Given the description of an element on the screen output the (x, y) to click on. 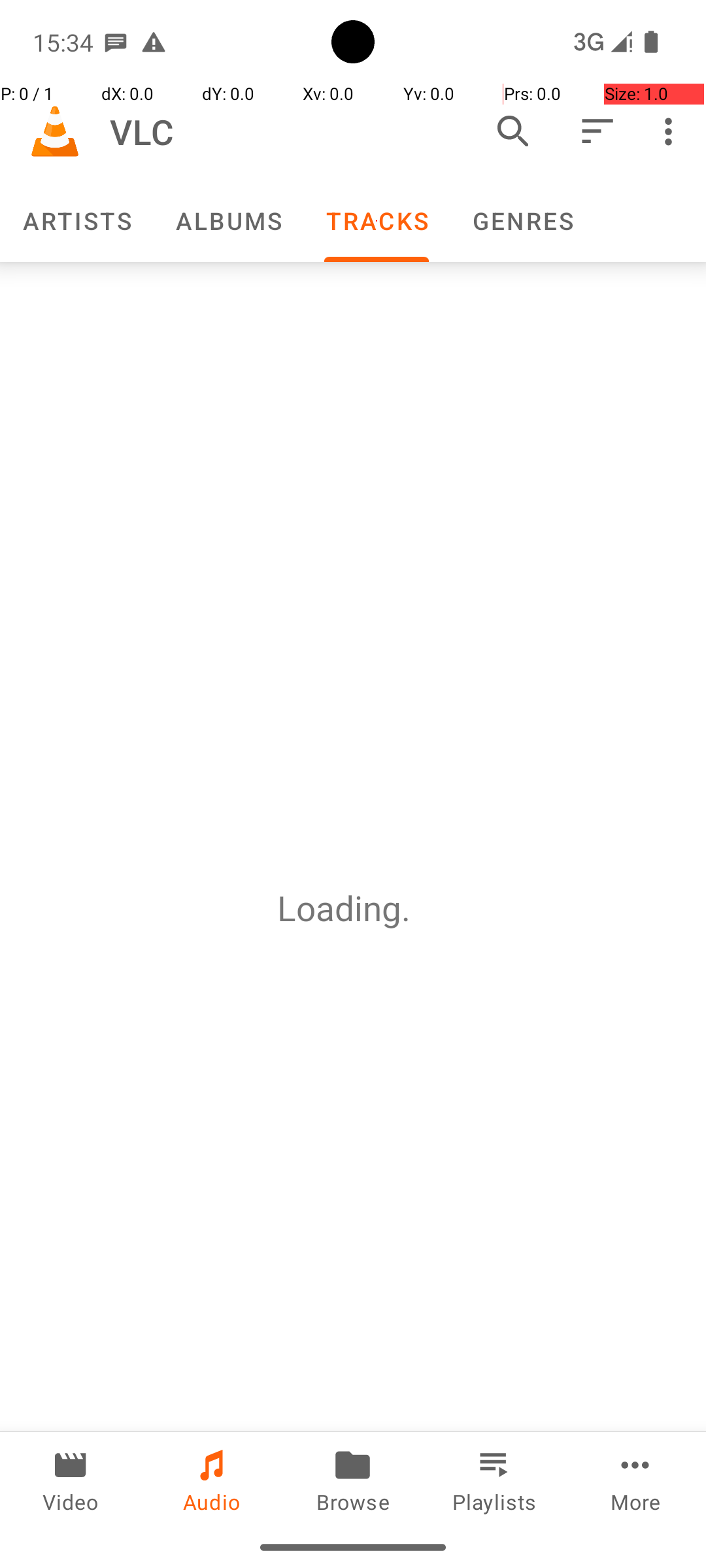
Genres Element type: android.widget.LinearLayout (521, 220)
ARTISTS Element type: android.widget.TextView (76, 220)
ALBUMS Element type: android.widget.TextView (227, 220)
TRACKS Element type: android.widget.TextView (376, 220)
GENRES Element type: android.widget.TextView (521, 220)
